Given the description of an element on the screen output the (x, y) to click on. 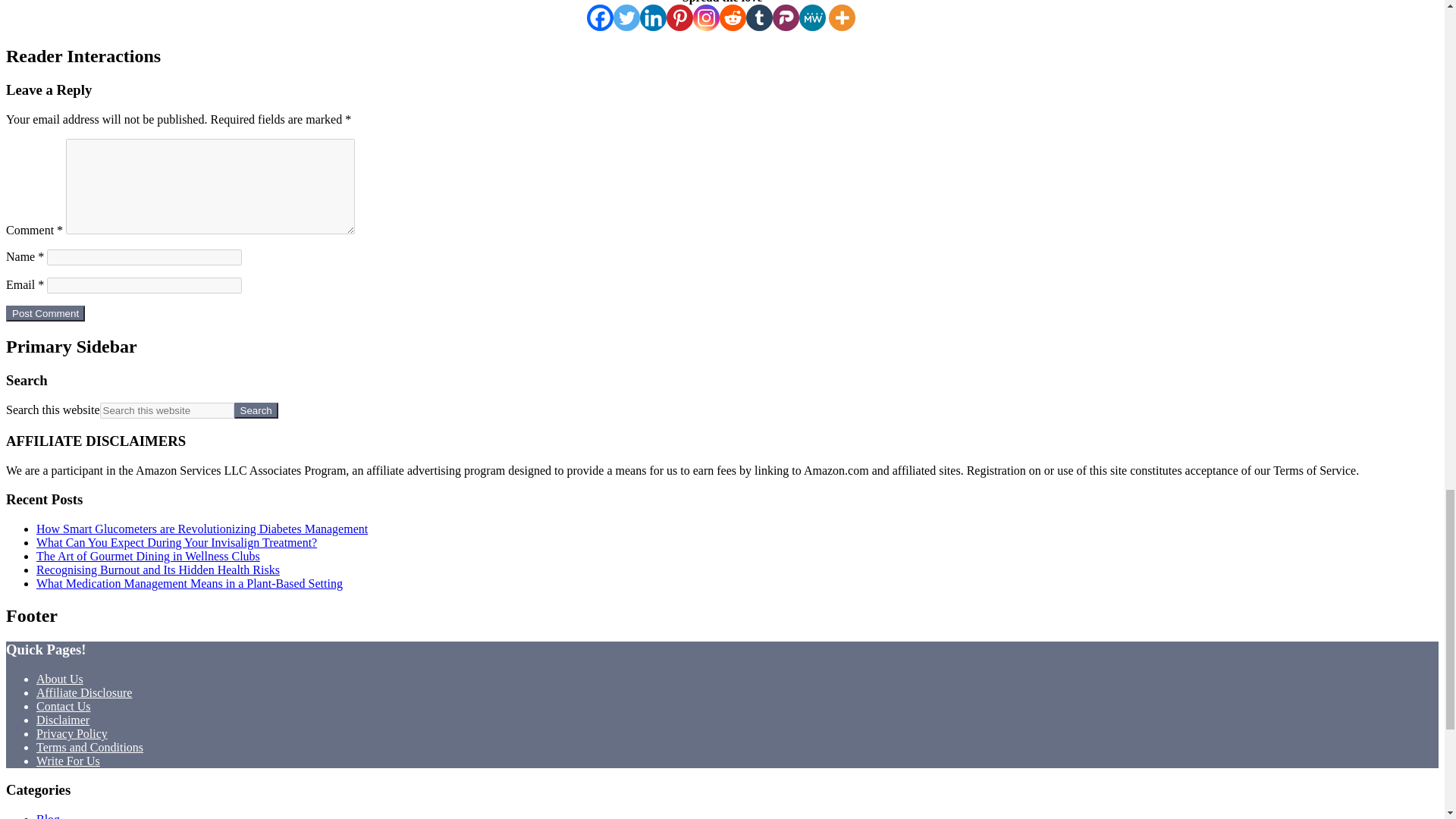
Search (256, 410)
Search (256, 410)
Post Comment (44, 313)
Tumblr (759, 17)
Linkedin (653, 17)
Facebook (599, 17)
Twitter (625, 17)
Instagram (706, 17)
Pinterest (679, 17)
Reddit (732, 17)
